Given the description of an element on the screen output the (x, y) to click on. 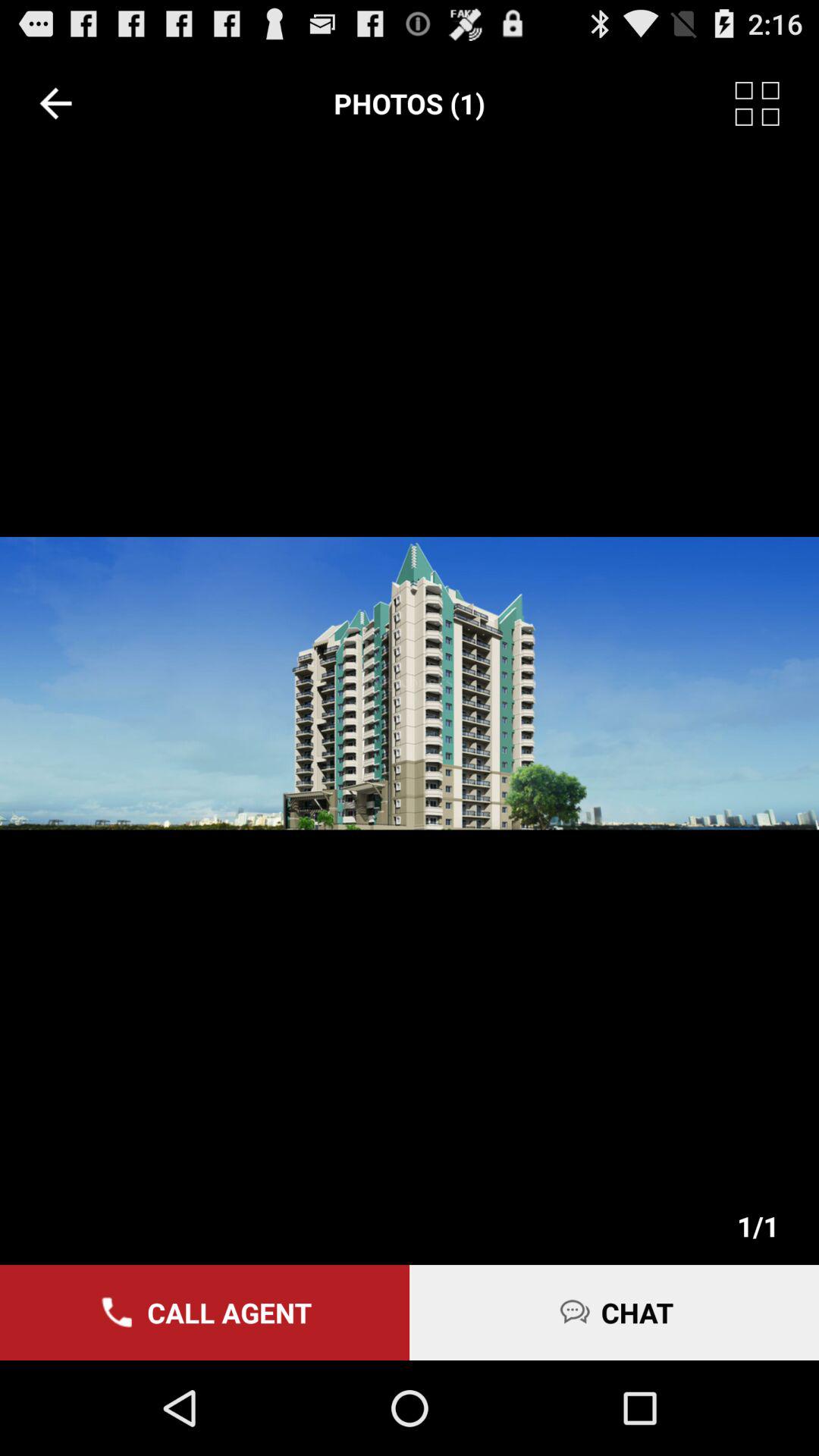
tap the item at the top (409, 103)
